Given the description of an element on the screen output the (x, y) to click on. 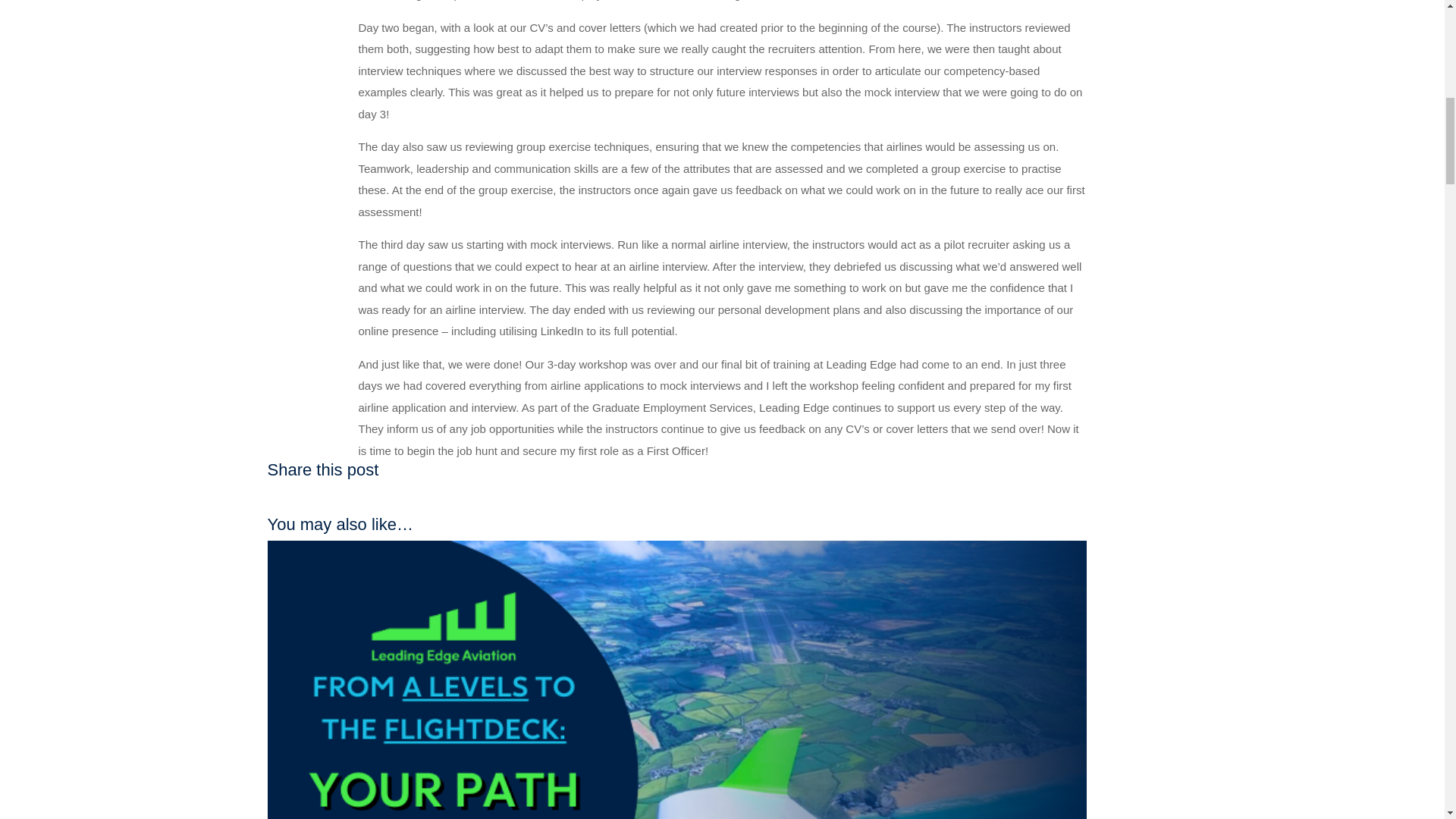
Follow on Facebook (691, 498)
Follow on LinkedIn (751, 498)
Follow on X (721, 498)
